Given the description of an element on the screen output the (x, y) to click on. 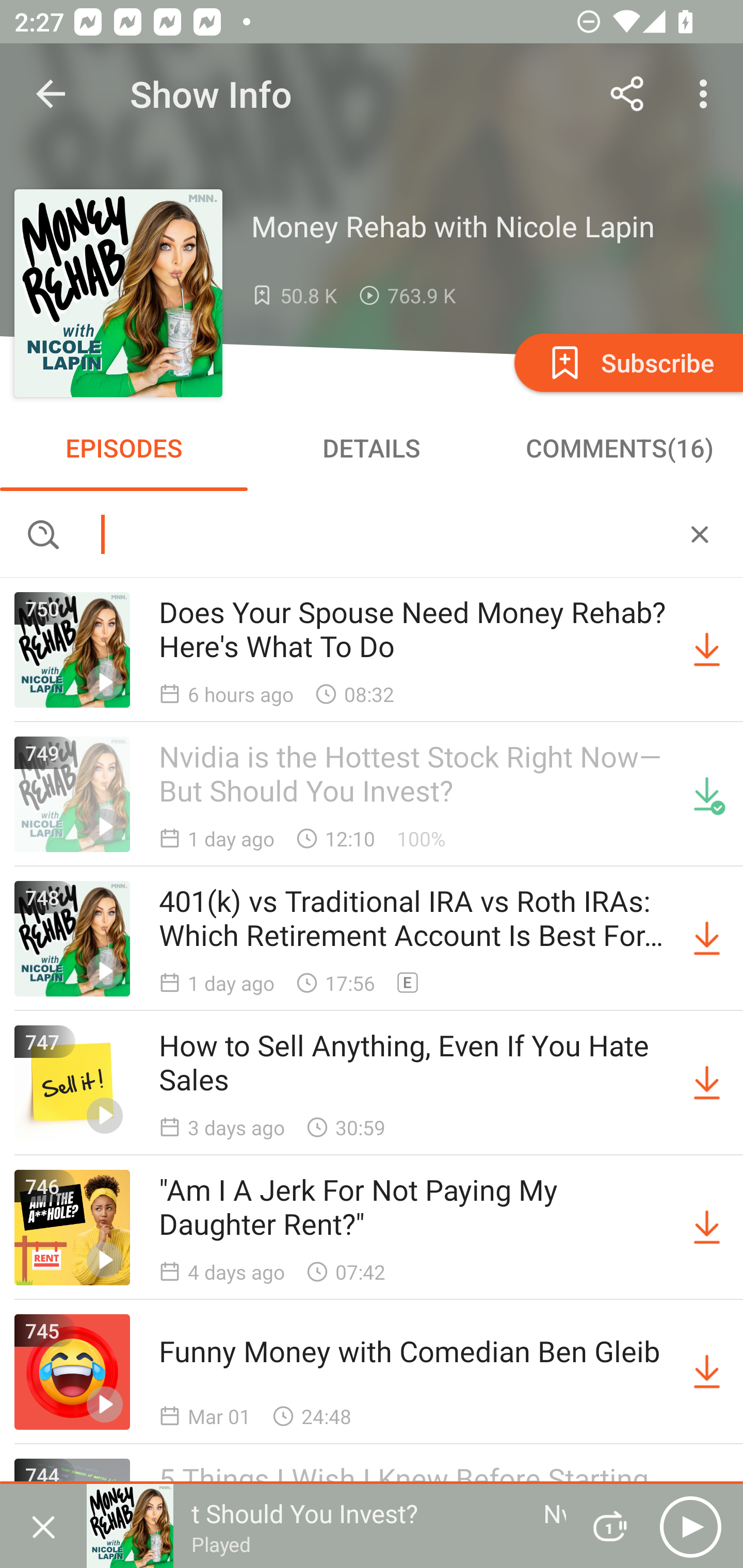
Navigate up (50, 93)
Share (626, 93)
More options (706, 93)
Subscribe (627, 361)
EPISODES (123, 447)
DETAILS (371, 447)
COMMENTS(16) (619, 447)
 CANCEL (699, 533)
Search (371, 533)
Download (706, 649)
Downloaded (706, 793)
Download (706, 939)
Download (706, 1083)
Download (706, 1227)
Download (706, 1371)
Play (690, 1526)
